Given the description of an element on the screen output the (x, y) to click on. 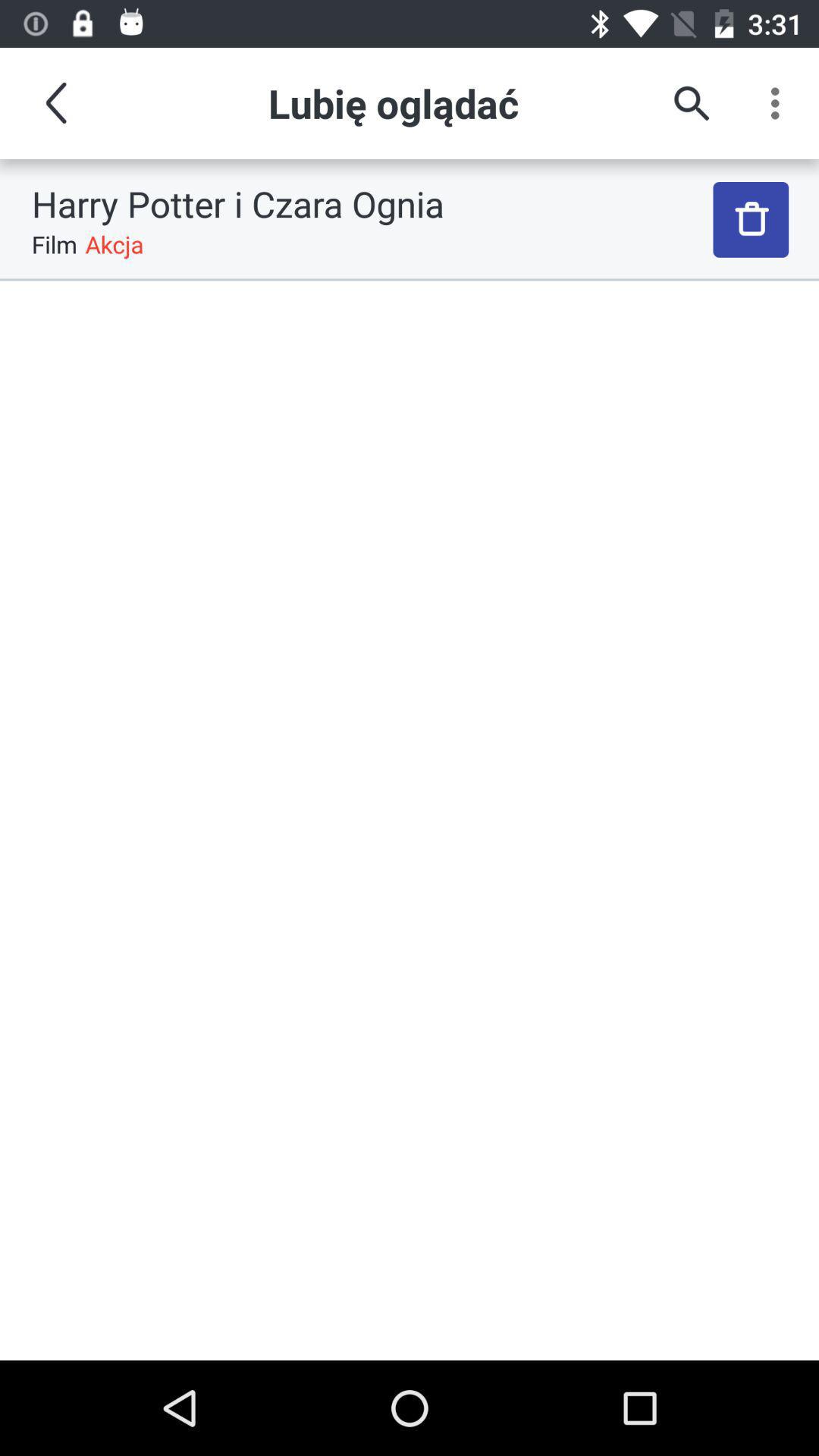
turn on the item above harry potter i (691, 103)
